Given the description of an element on the screen output the (x, y) to click on. 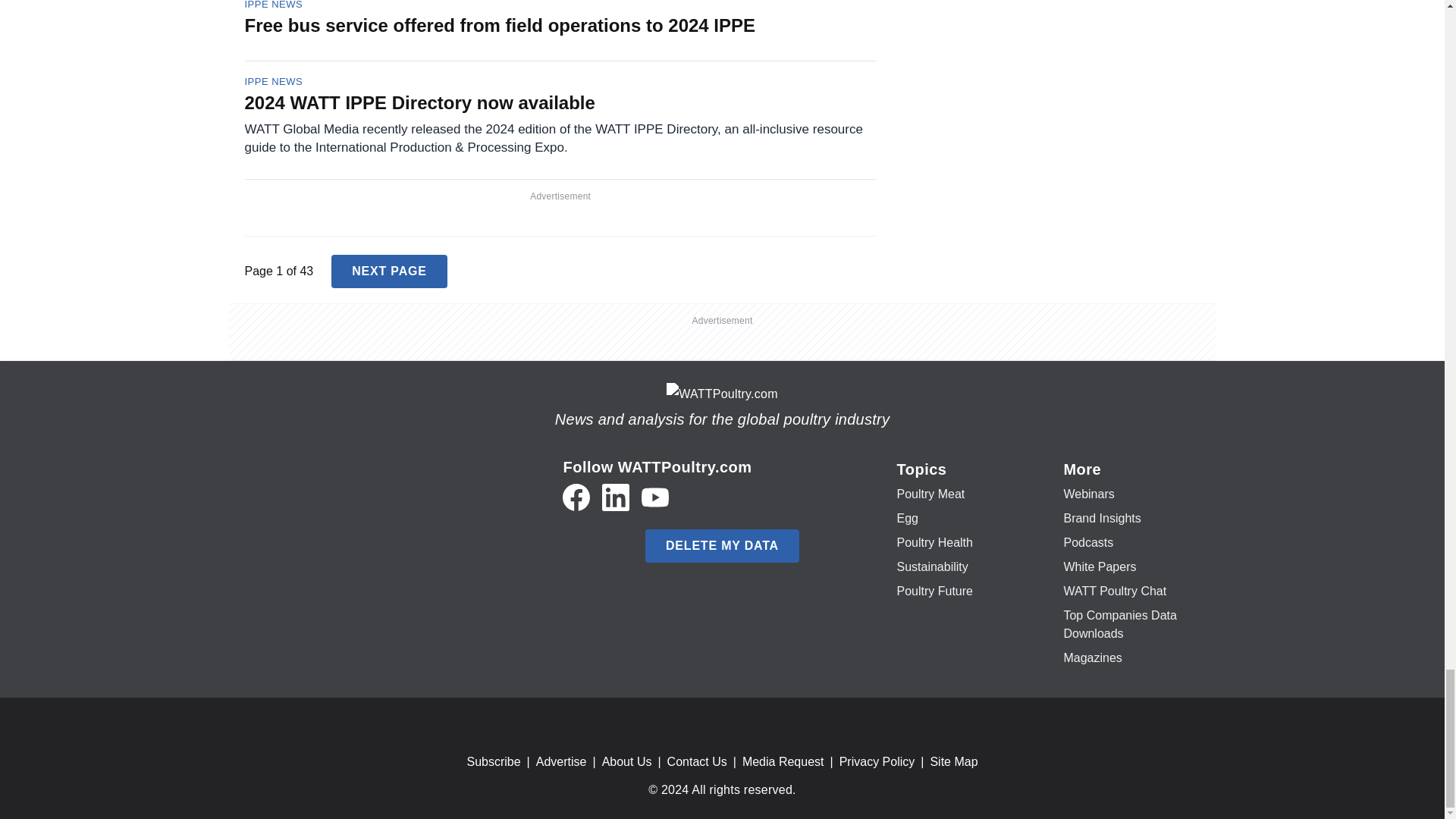
Facebook icon (575, 497)
YouTube icon (655, 497)
LinkedIn icon (615, 497)
